Given the description of an element on the screen output the (x, y) to click on. 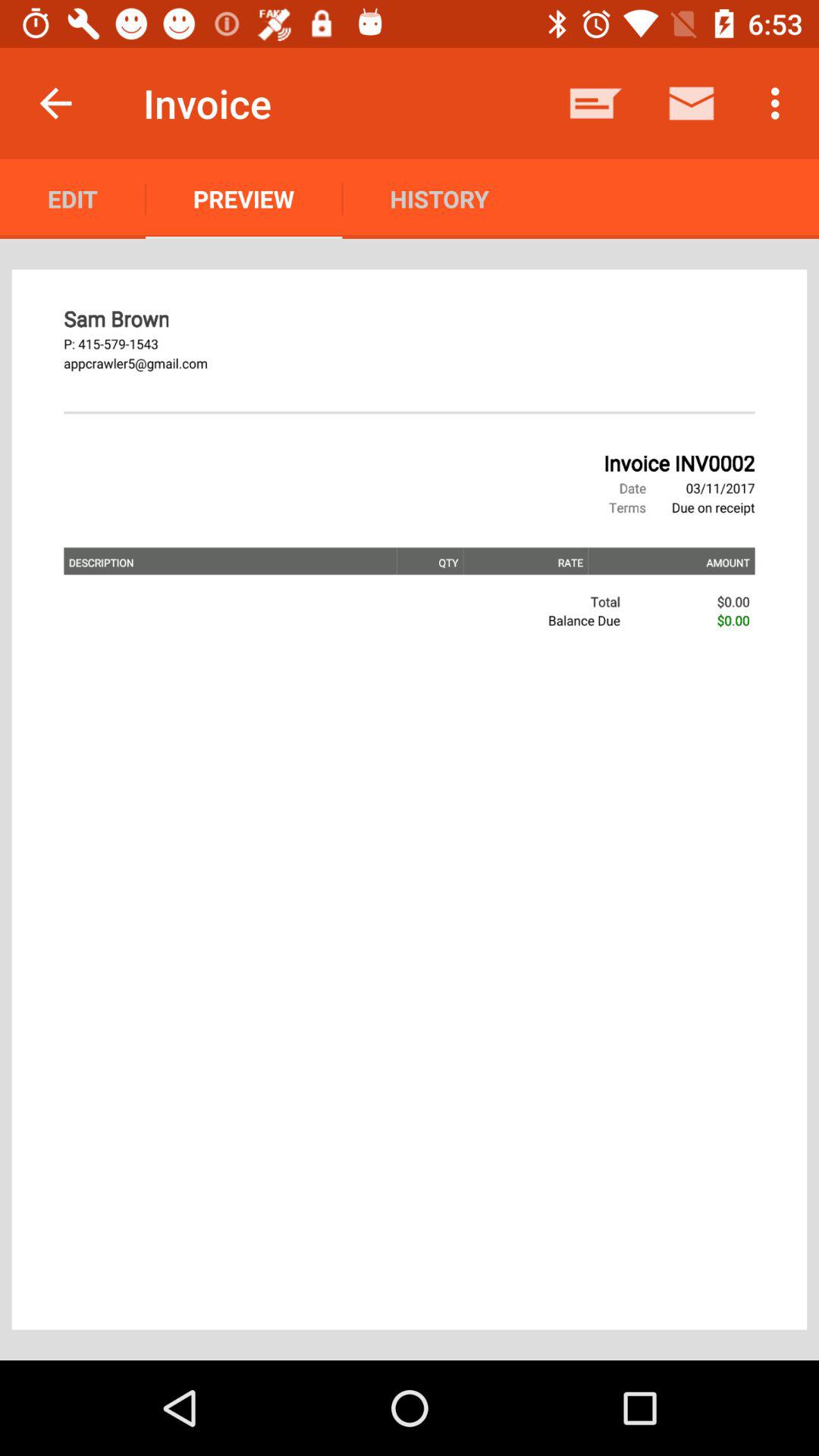
select the item next to preview (72, 198)
